Given the description of an element on the screen output the (x, y) to click on. 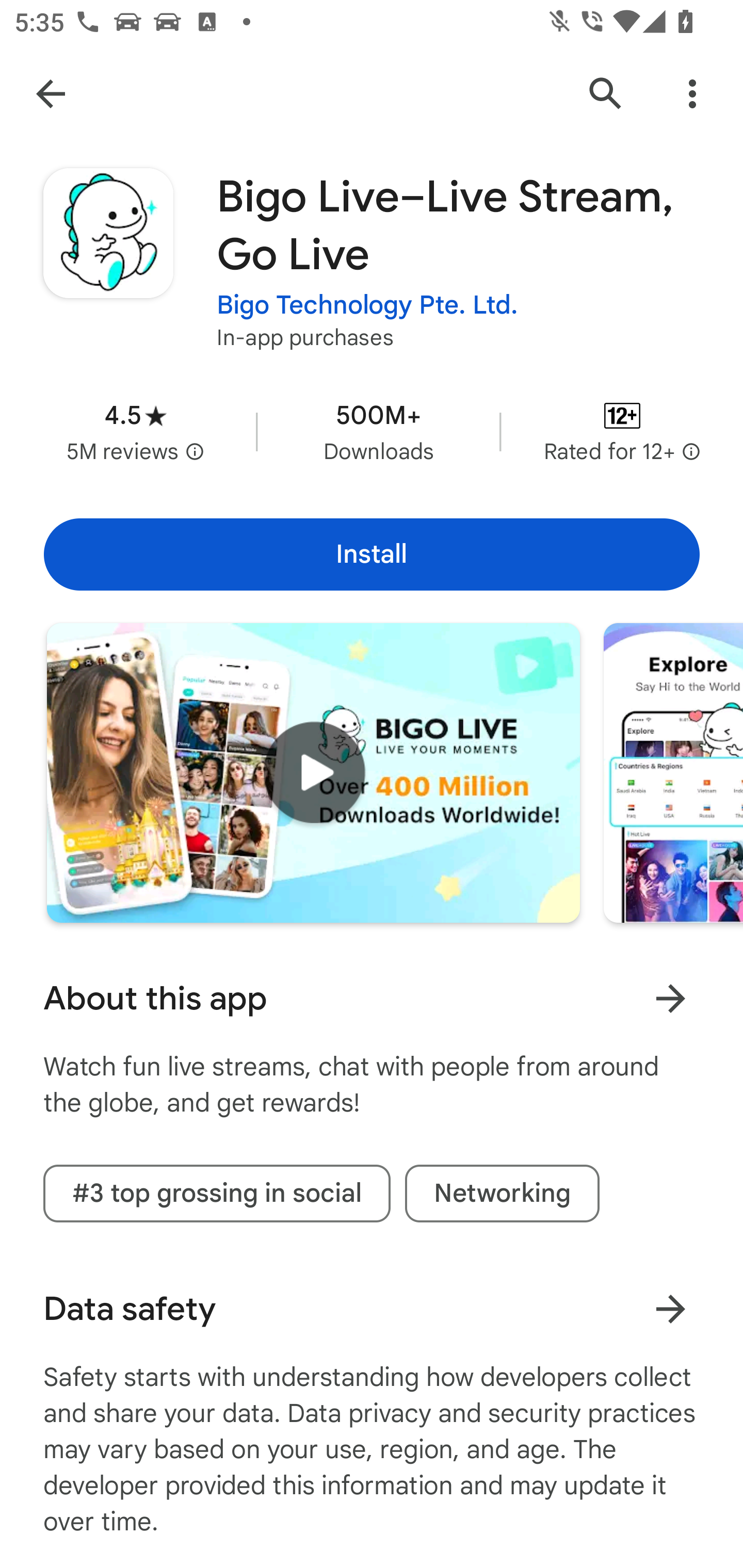
Navigate up (50, 93)
Search Google Play (605, 93)
More Options (692, 93)
Bigo Technology Pte. Ltd. (367, 304)
Average rating 4.5 stars in 5 million reviews (135, 431)
Content rating Rated for 12+ (622, 431)
Install (371, 554)
Play trailer for "Bigo Live–Live Stream, Go Live" (313, 771)
About this app Learn more About this app (371, 998)
Learn more About this app (670, 997)
#3 top grossing in social tag (216, 1193)
Networking tag (501, 1193)
Data safety Learn more about data safety (371, 1309)
Learn more about data safety (670, 1308)
